Given the description of an element on the screen output the (x, y) to click on. 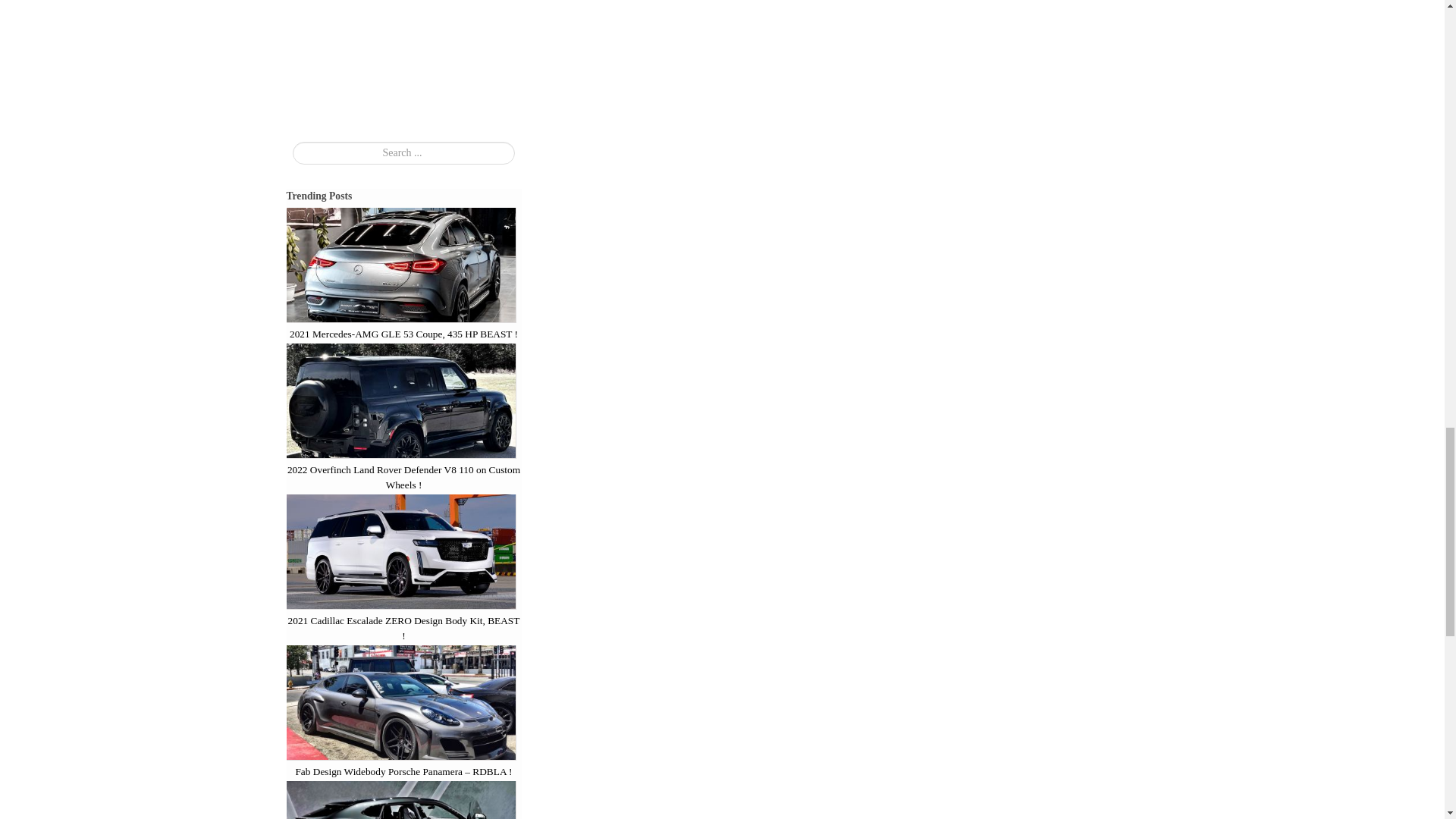
2021 Cadillac Escalade ZERO Design Body Kit, BEAST ! (403, 628)
2022 Overfinch Land Rover Defender V8 110 on Custom Wheels ! (403, 477)
2021 Mercedes-AMG GLE 53 Coupe, 435 HP BEAST ! (403, 334)
